Given the description of an element on the screen output the (x, y) to click on. 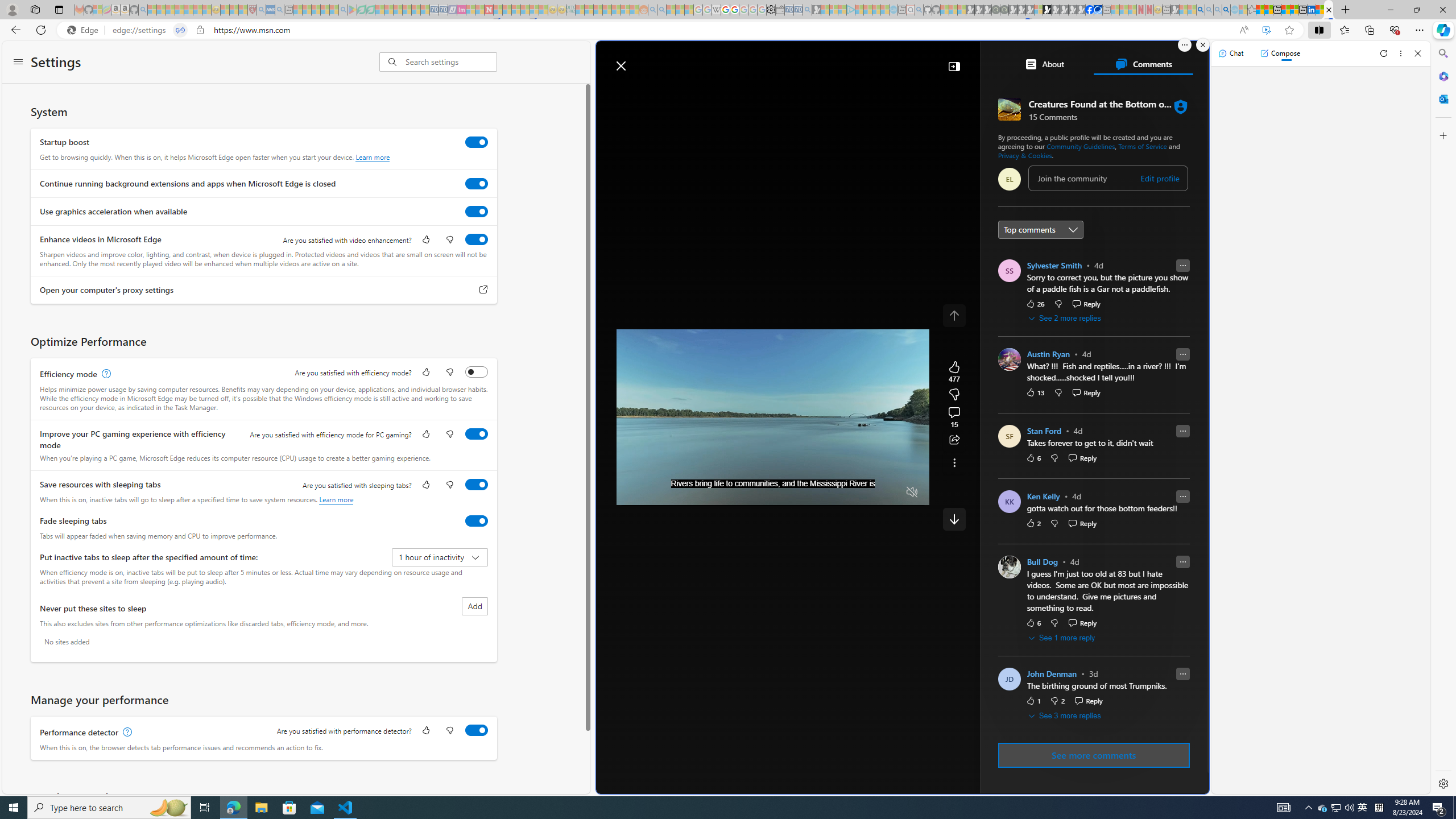
Tabs in split screen (180, 29)
477 Like (954, 371)
